Given the description of an element on the screen output the (x, y) to click on. 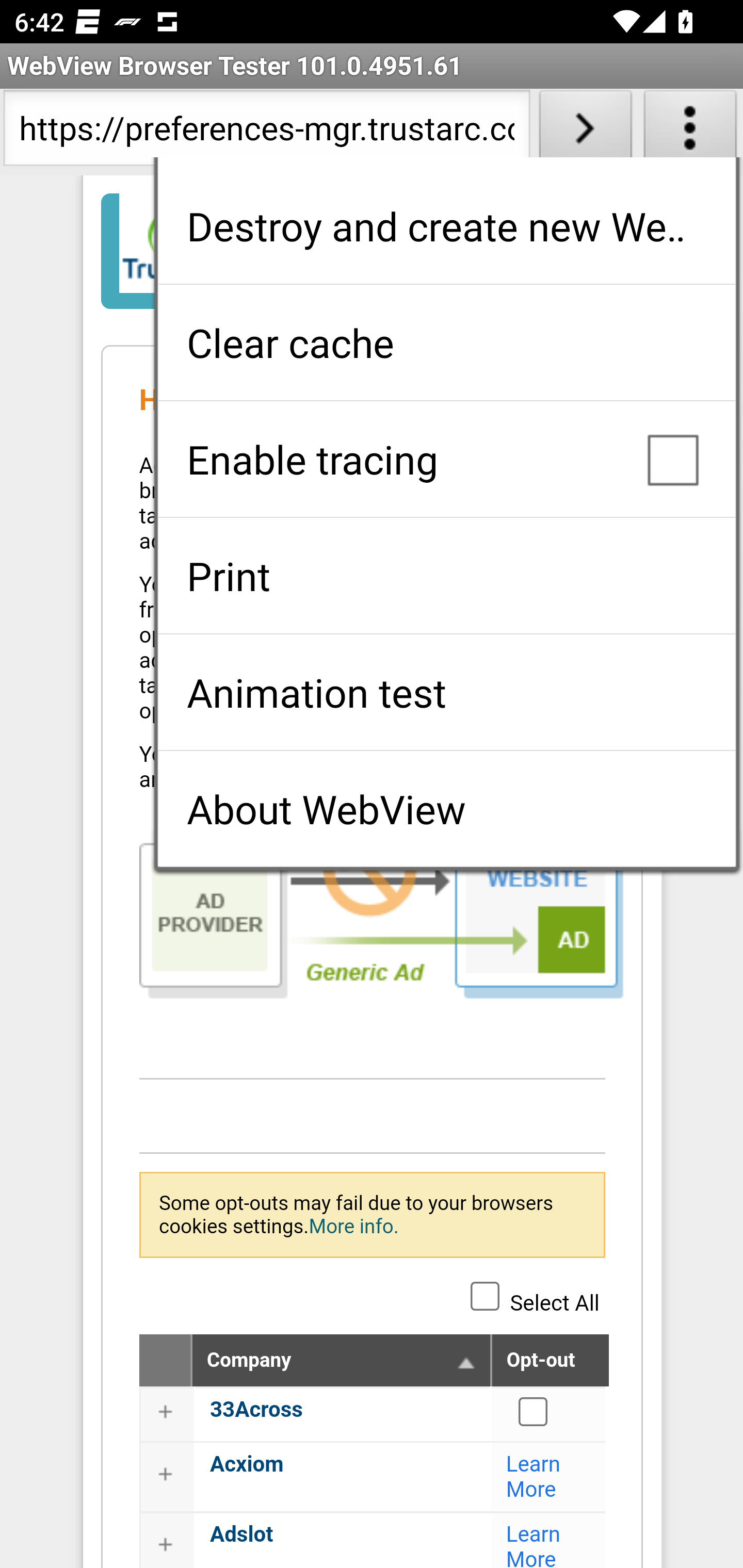
Destroy and create new WebView (446, 225)
Clear cache (446, 342)
Enable tracing (446, 459)
Print (446, 575)
Animation test (446, 692)
About WebView (446, 809)
